Given the description of an element on the screen output the (x, y) to click on. 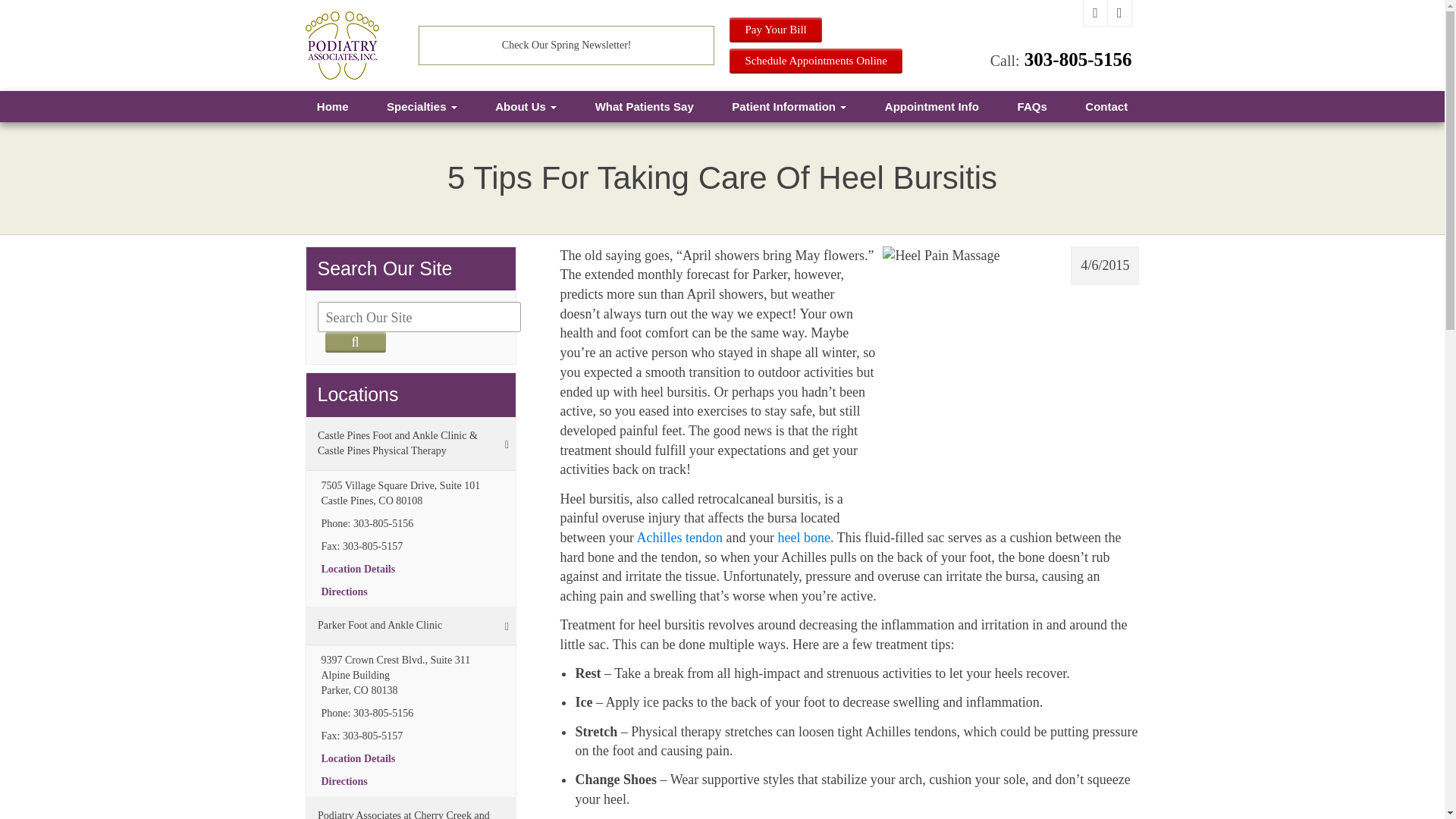
Pay Your Bill (775, 29)
Schedule Appointments Online (815, 60)
Frequently Asked Questions (1031, 106)
Learn about plantar fasciitis. (803, 537)
Specialties (422, 106)
Learn about Achilles tendon pain. (679, 537)
About Us (525, 106)
What Patients Say (644, 106)
Search (354, 342)
Patient Information (788, 106)
Home (331, 106)
